Given the description of an element on the screen output the (x, y) to click on. 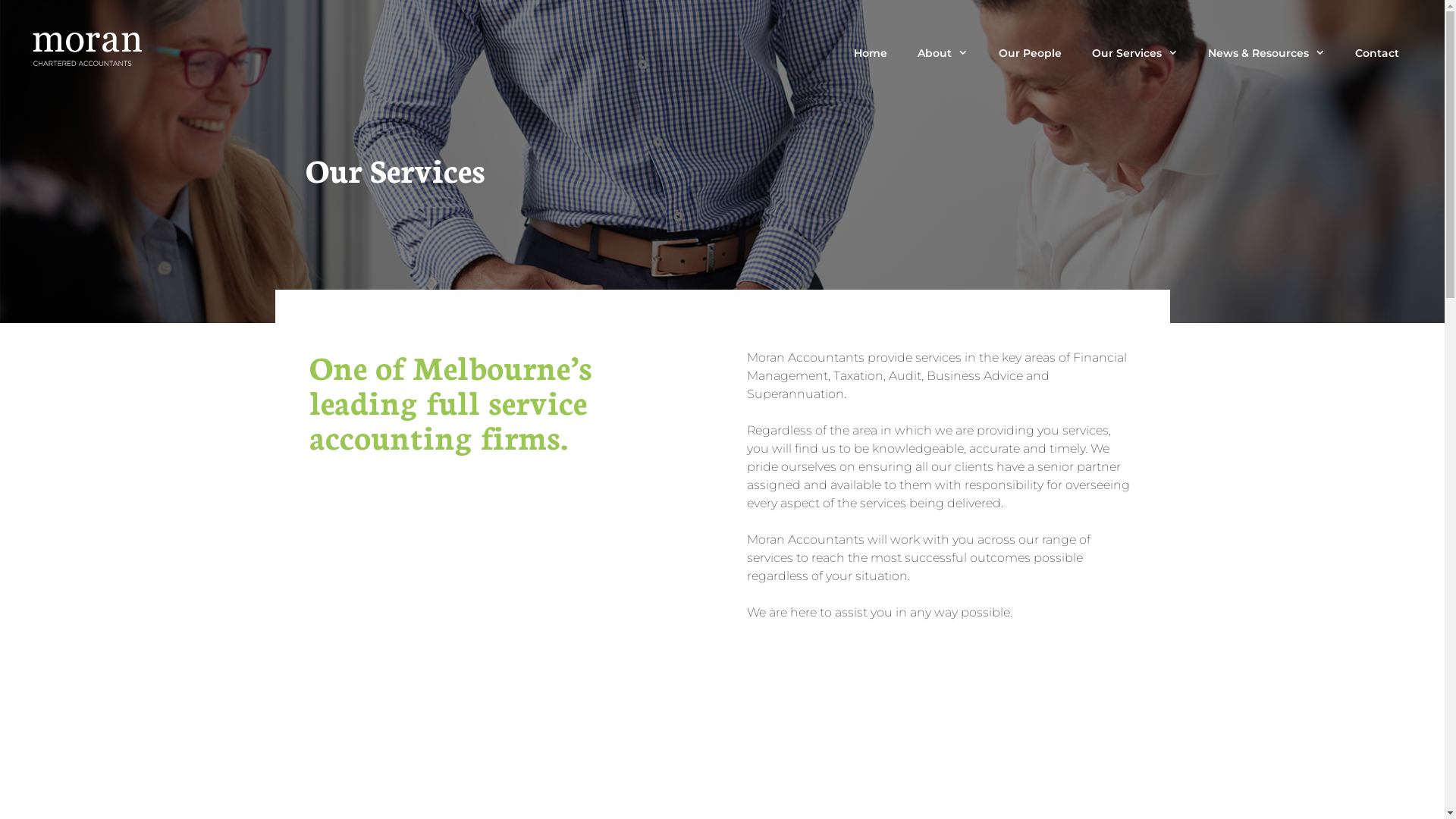
News & Resources Element type: text (1265, 52)
Home Element type: text (870, 52)
Contact Element type: text (1376, 52)
Our Services Element type: text (1134, 52)
About Element type: text (942, 52)
Our People Element type: text (1029, 52)
